Given the description of an element on the screen output the (x, y) to click on. 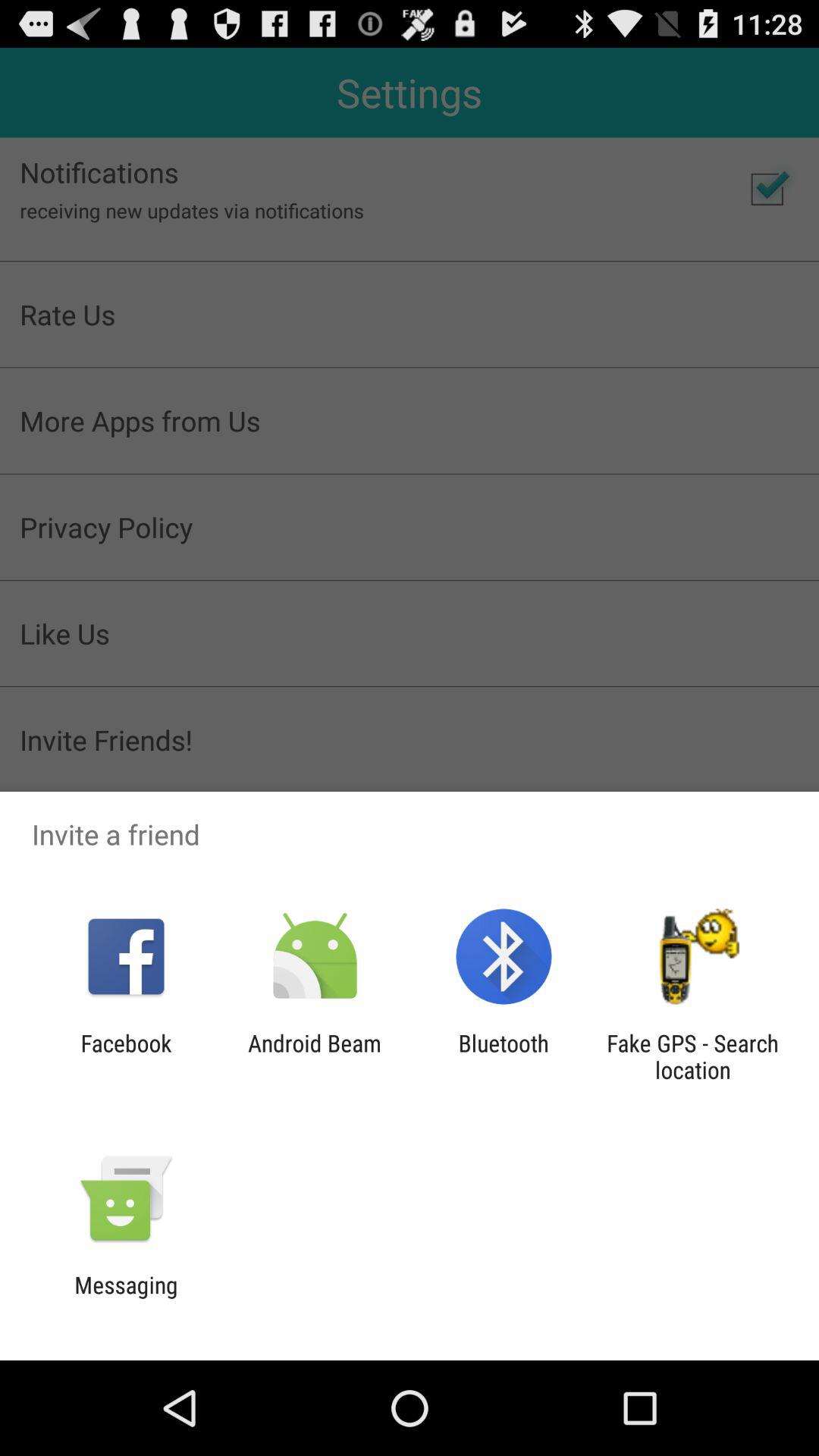
turn on icon next to the bluetooth app (692, 1056)
